Given the description of an element on the screen output the (x, y) to click on. 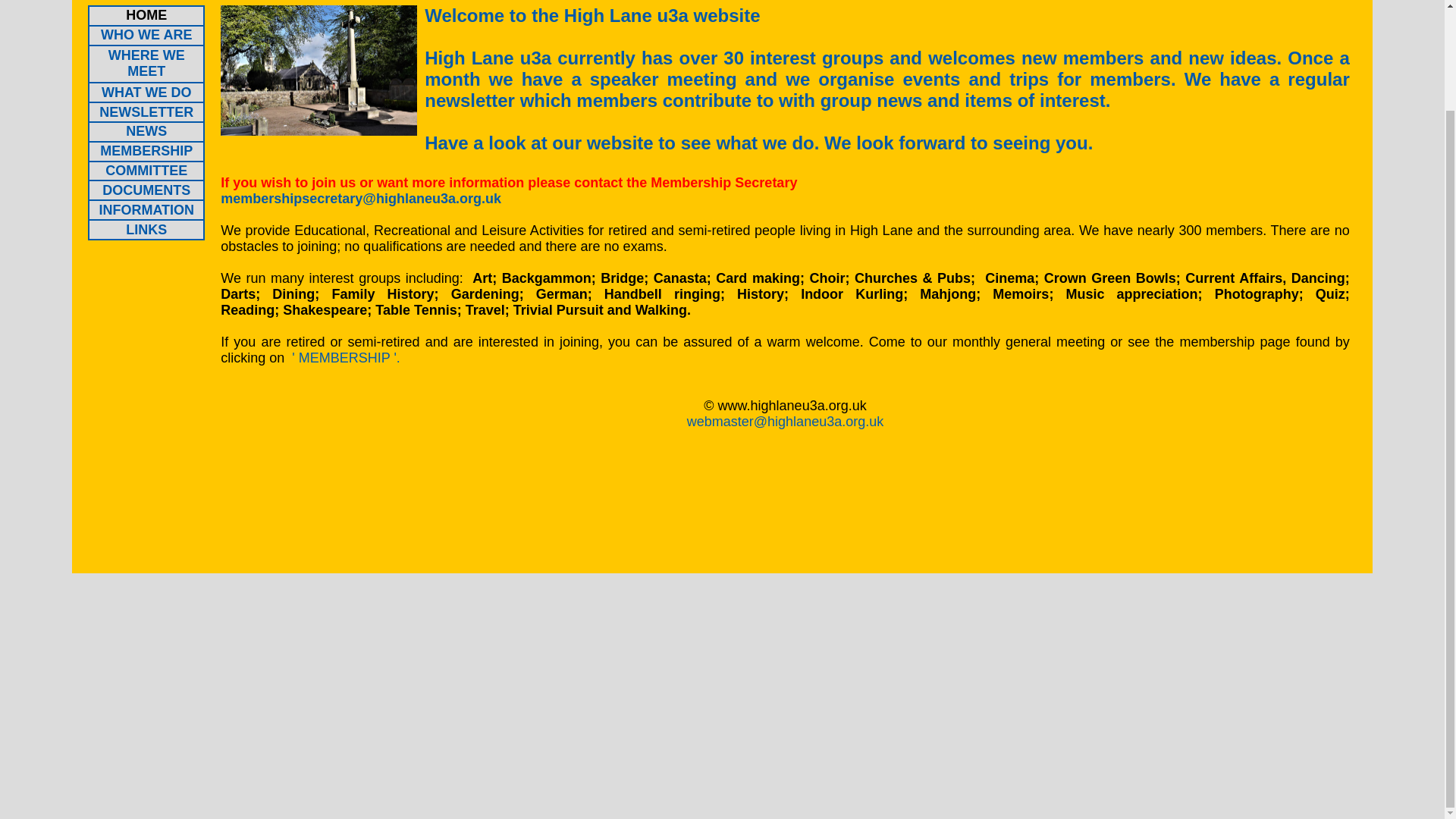
WHERE WE MEET (145, 62)
NEWSLETTER (146, 111)
' MEMBERSHIP '. (346, 357)
INFORMATION (146, 209)
NEWS (146, 130)
MEMBERSHIP (146, 150)
LINKS (146, 229)
WHO WE ARE (146, 34)
DOCUMENTS (145, 190)
COMMITTEE (145, 170)
WHAT WE DO (146, 92)
